Given the description of an element on the screen output the (x, y) to click on. 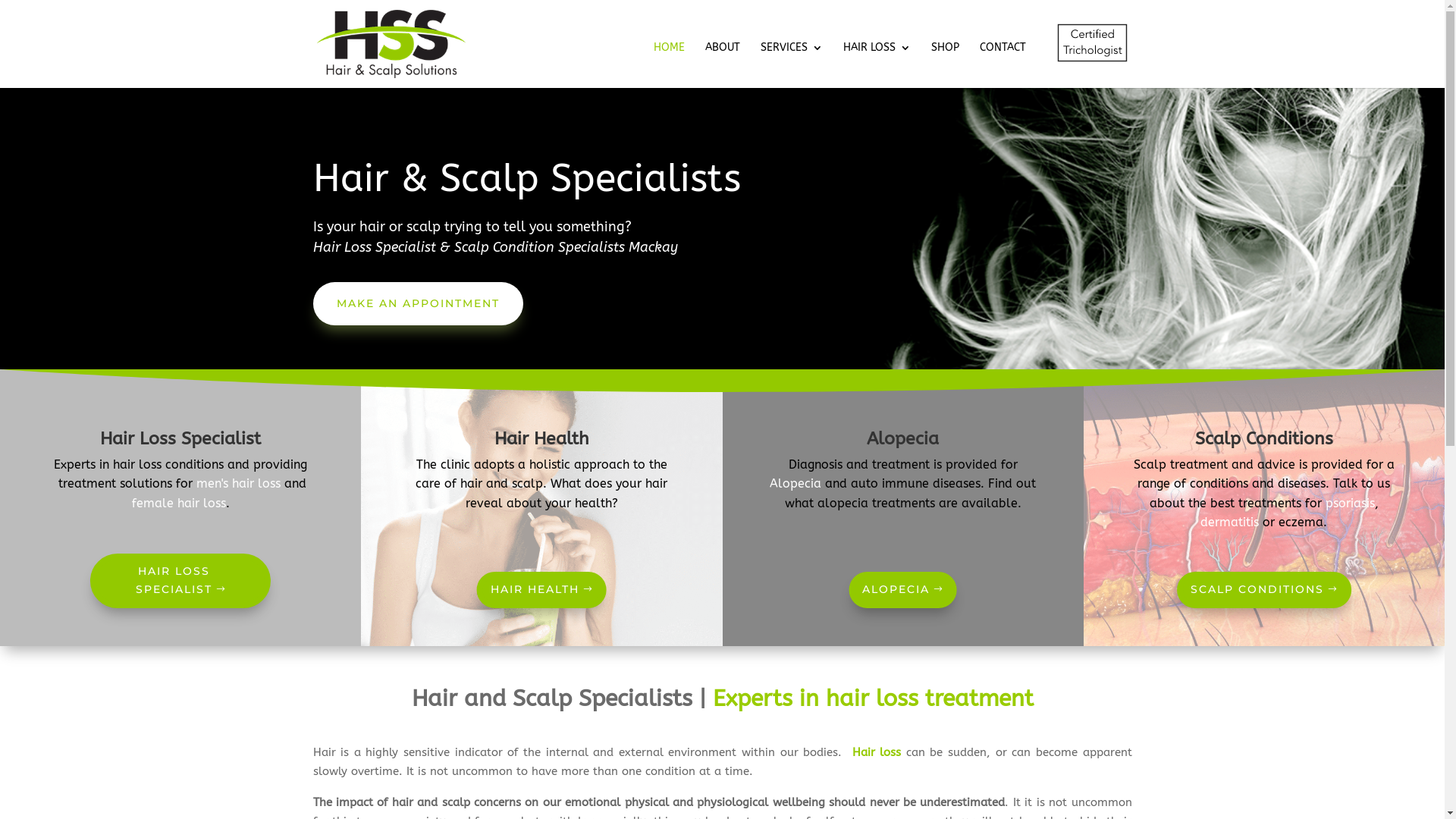
SERVICES Element type: text (790, 53)
HOME Element type: text (668, 53)
SCALP CONDITIONS Element type: text (1263, 589)
CONTACT Element type: text (1002, 53)
female hair loss Element type: text (178, 502)
ABOUT Element type: text (722, 53)
ALOPECIA Element type: text (902, 589)
Hair loss Element type: text (876, 752)
SHOP Element type: text (945, 53)
men's hair loss Element type: text (238, 483)
psoriasis Element type: text (1349, 502)
HAIR LOSS SPECIALIST Element type: text (180, 580)
HAIR LOSS Element type: text (876, 53)
HAIR HEALTH Element type: text (541, 589)
Alopecia Element type: text (795, 483)
dermatitis Element type: text (1229, 521)
MAKE AN APPOINTMENT Element type: text (417, 304)
